Given the description of an element on the screen output the (x, y) to click on. 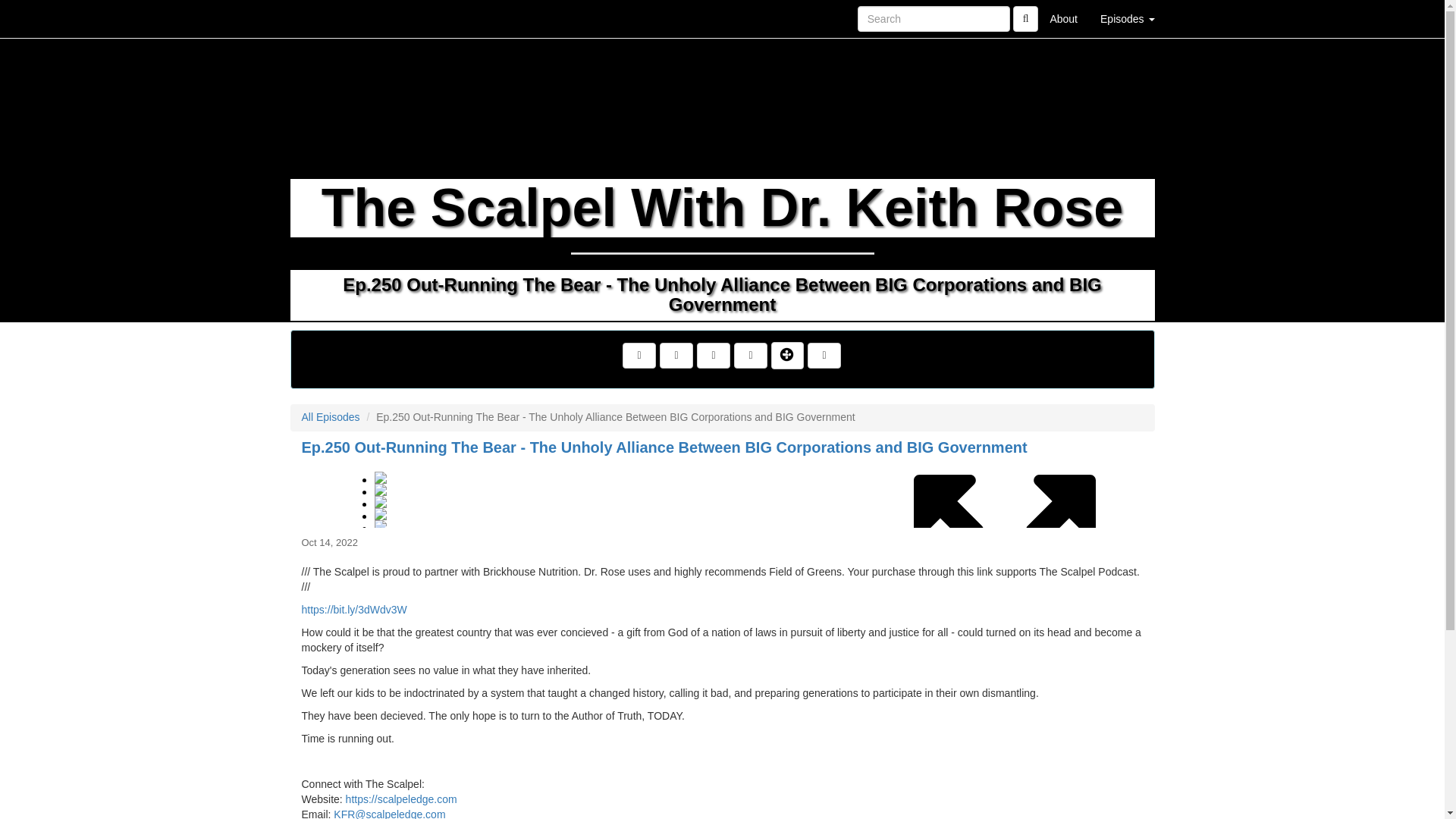
About (1063, 18)
Episodes (1127, 18)
Home Page (320, 18)
